Given the description of an element on the screen output the (x, y) to click on. 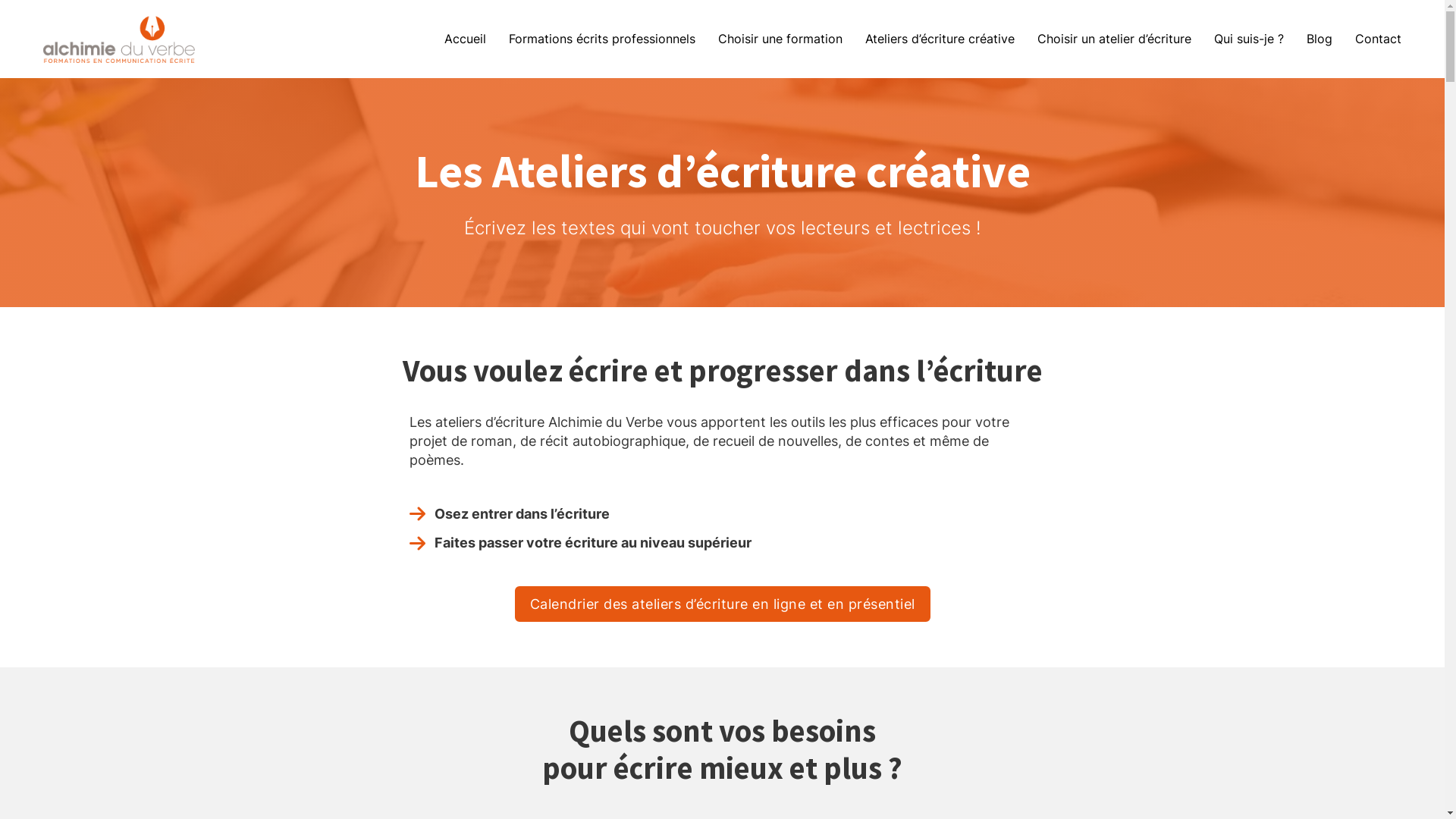
Accueil Element type: text (465, 38)
Contact Element type: text (1378, 38)
Alchimie du verbe accueil Element type: hover (118, 37)
Blog Element type: text (1319, 38)
Qui suis-je ? Element type: text (1248, 38)
Choisir une formation Element type: text (780, 38)
